Given the description of an element on the screen output the (x, y) to click on. 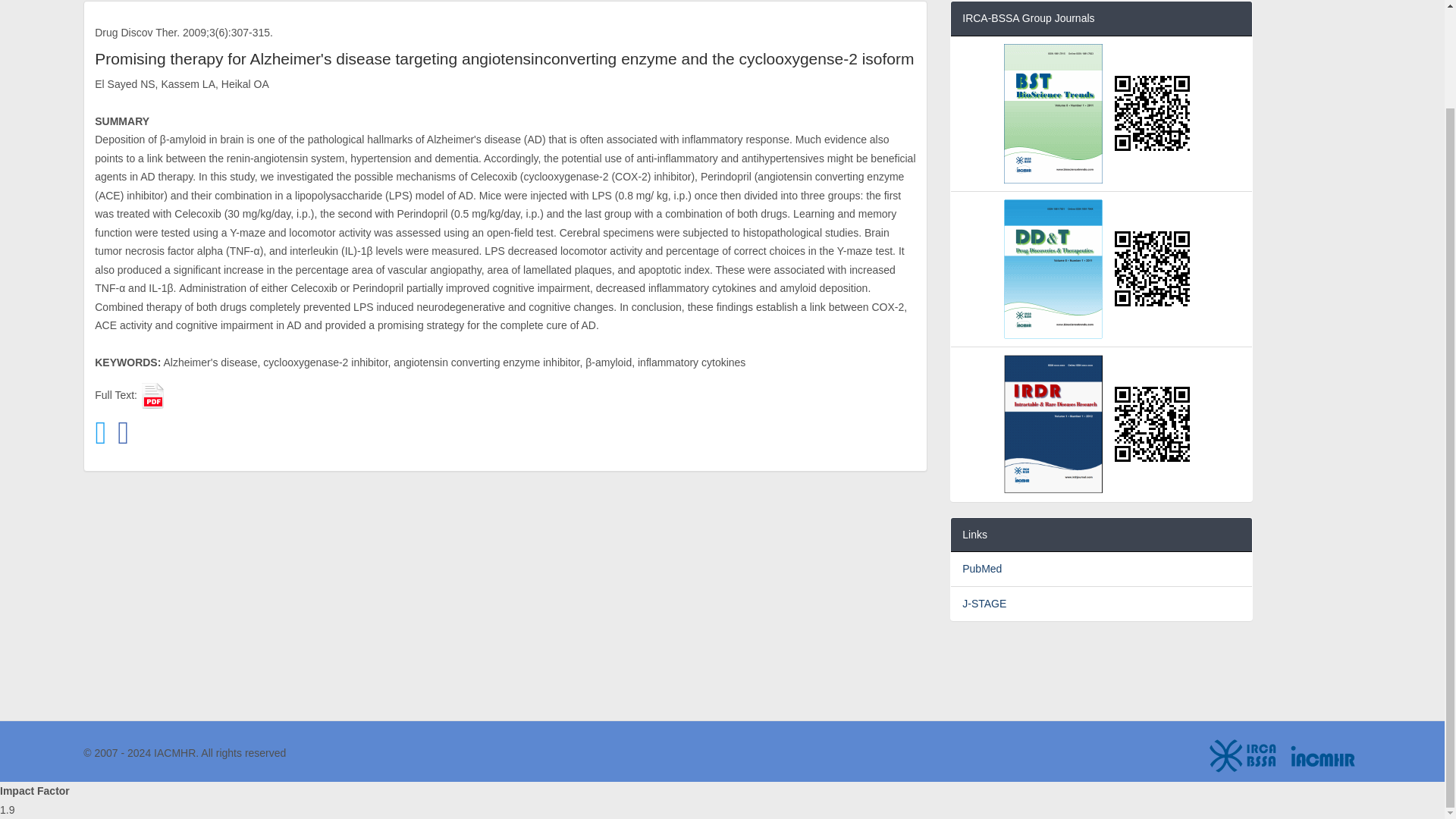
J-STAGE (984, 603)
PubMed (981, 568)
